Given the description of an element on the screen output the (x, y) to click on. 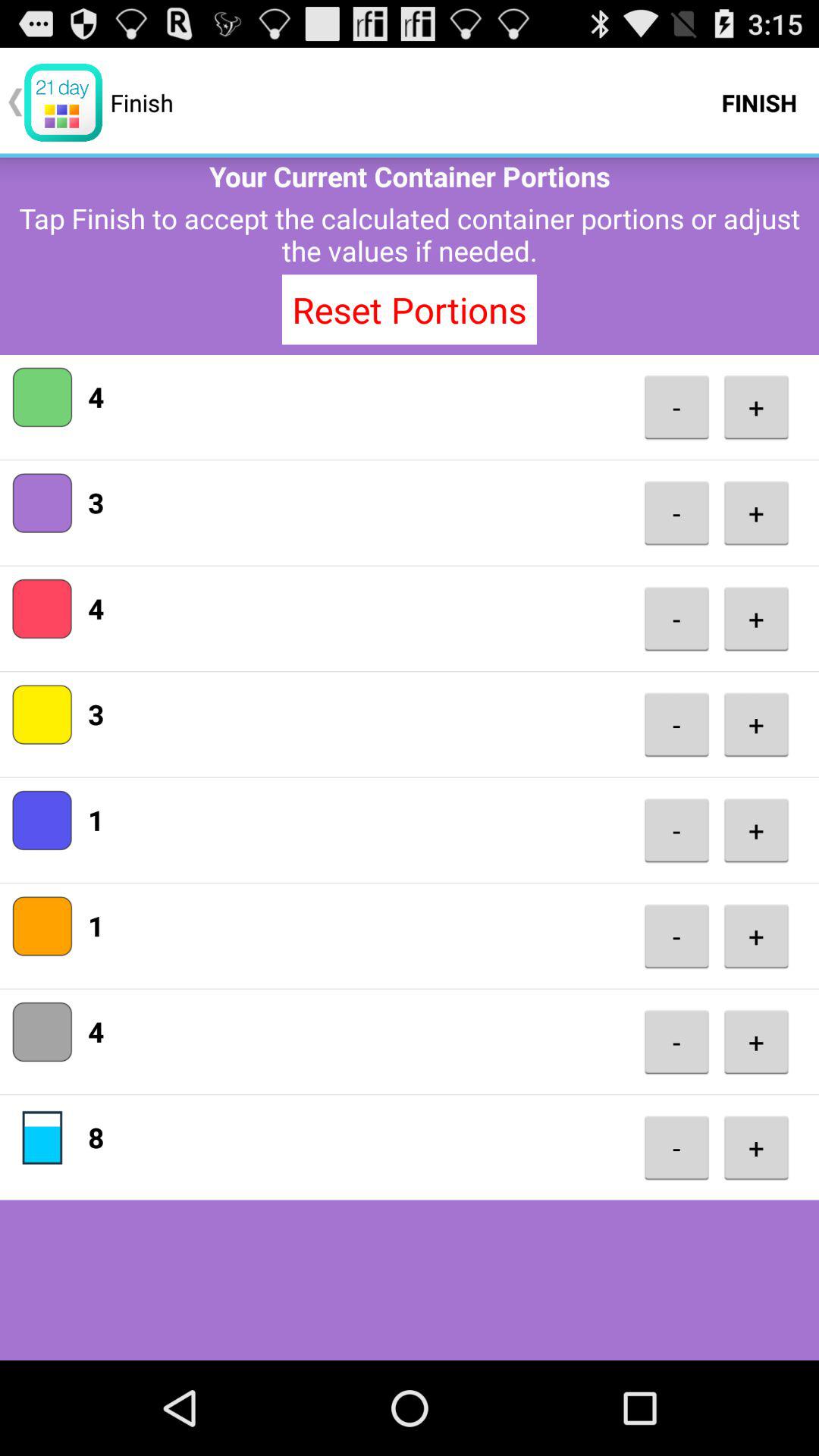
tap icon below - (676, 935)
